Given the description of an element on the screen output the (x, y) to click on. 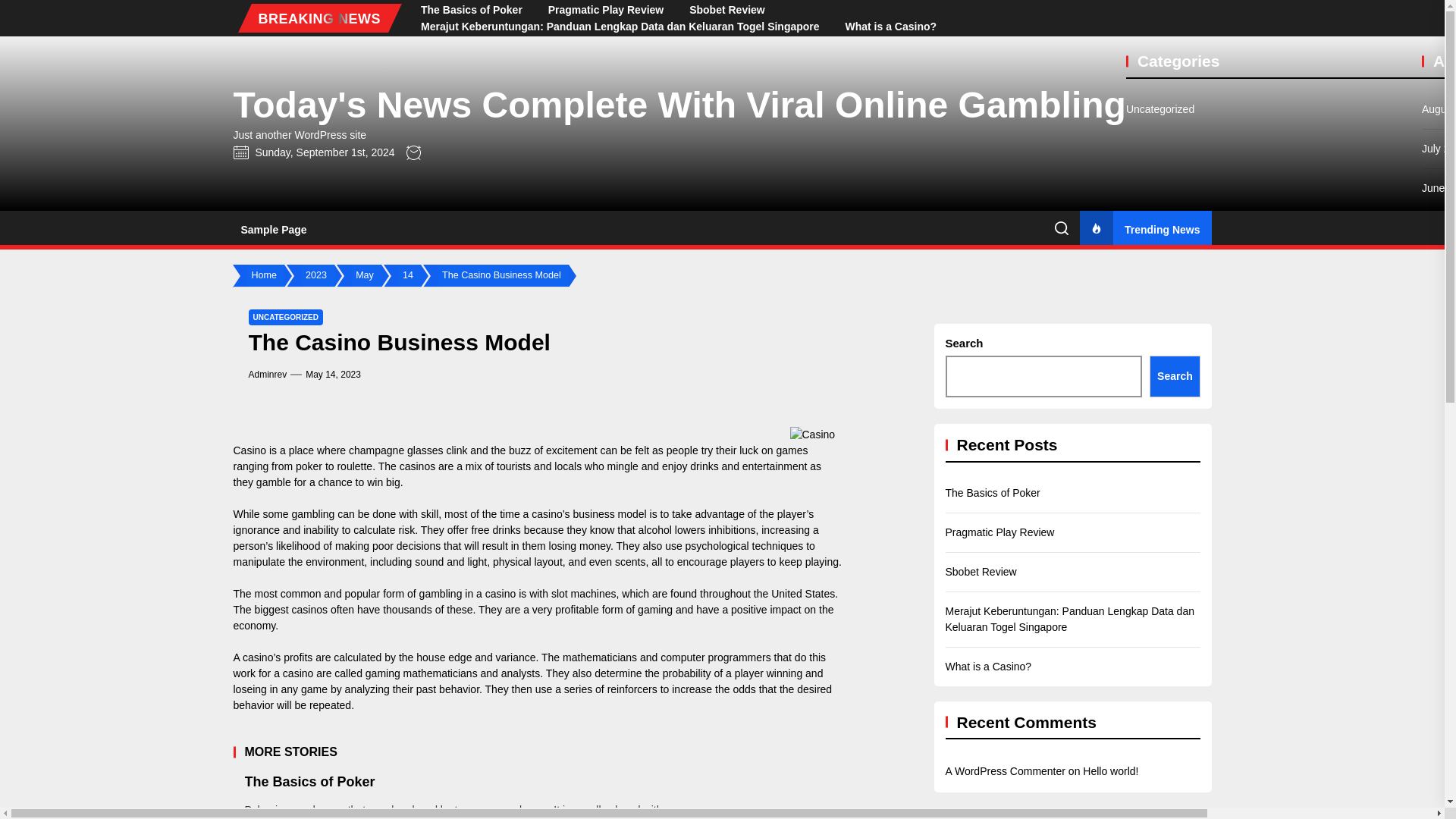
April 2023 (1439, 740)
March 2024 (1439, 306)
June 2023 (1439, 661)
Sample Page (273, 229)
What is a Casino? (891, 27)
November 2023 (1439, 464)
Sbobet Review (727, 9)
Sbobet Review (727, 9)
Uncategorized (1159, 109)
January 2024 (1439, 385)
